Given the description of an element on the screen output the (x, y) to click on. 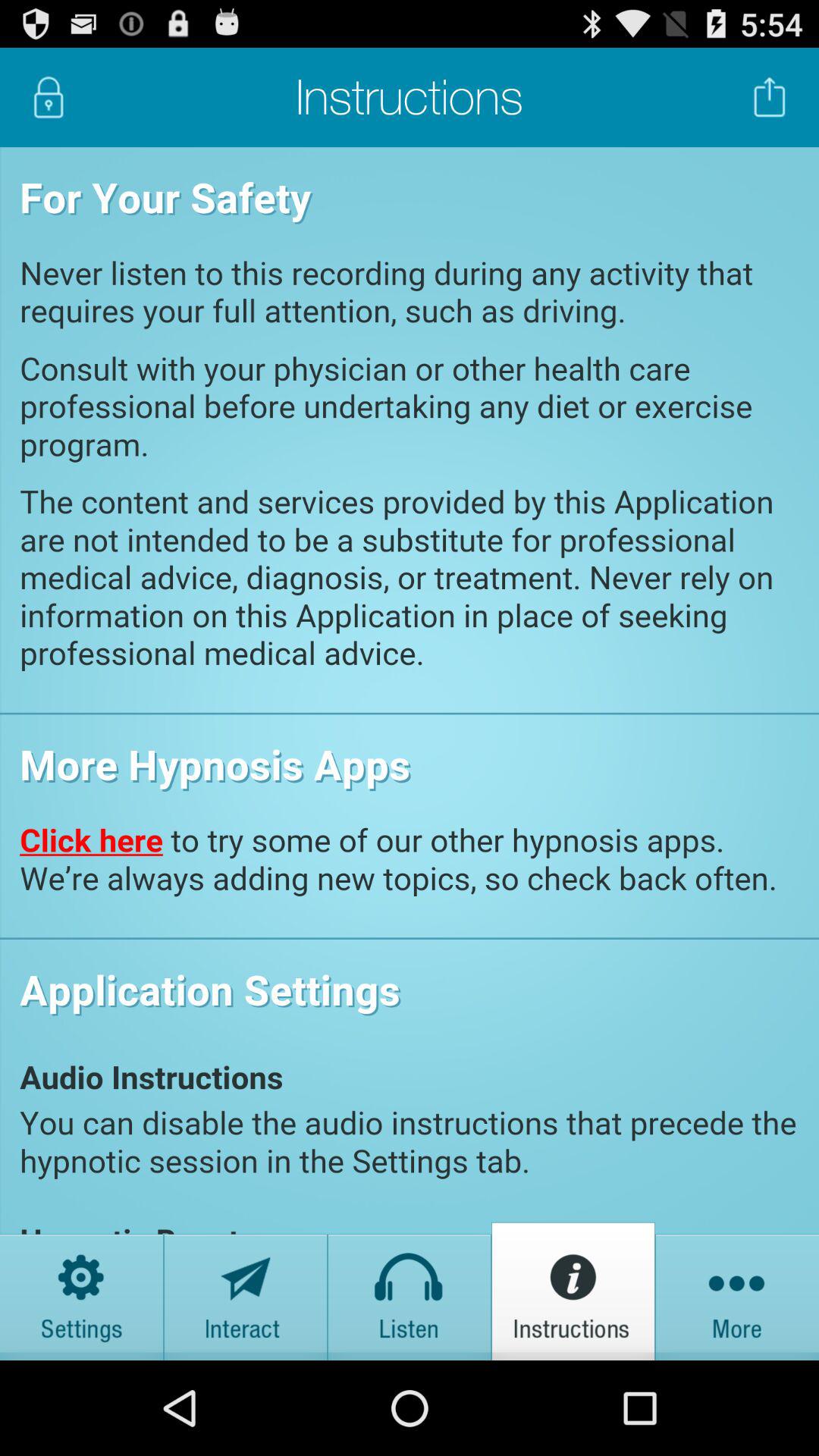
go to next screen (737, 1290)
